Given the description of an element on the screen output the (x, y) to click on. 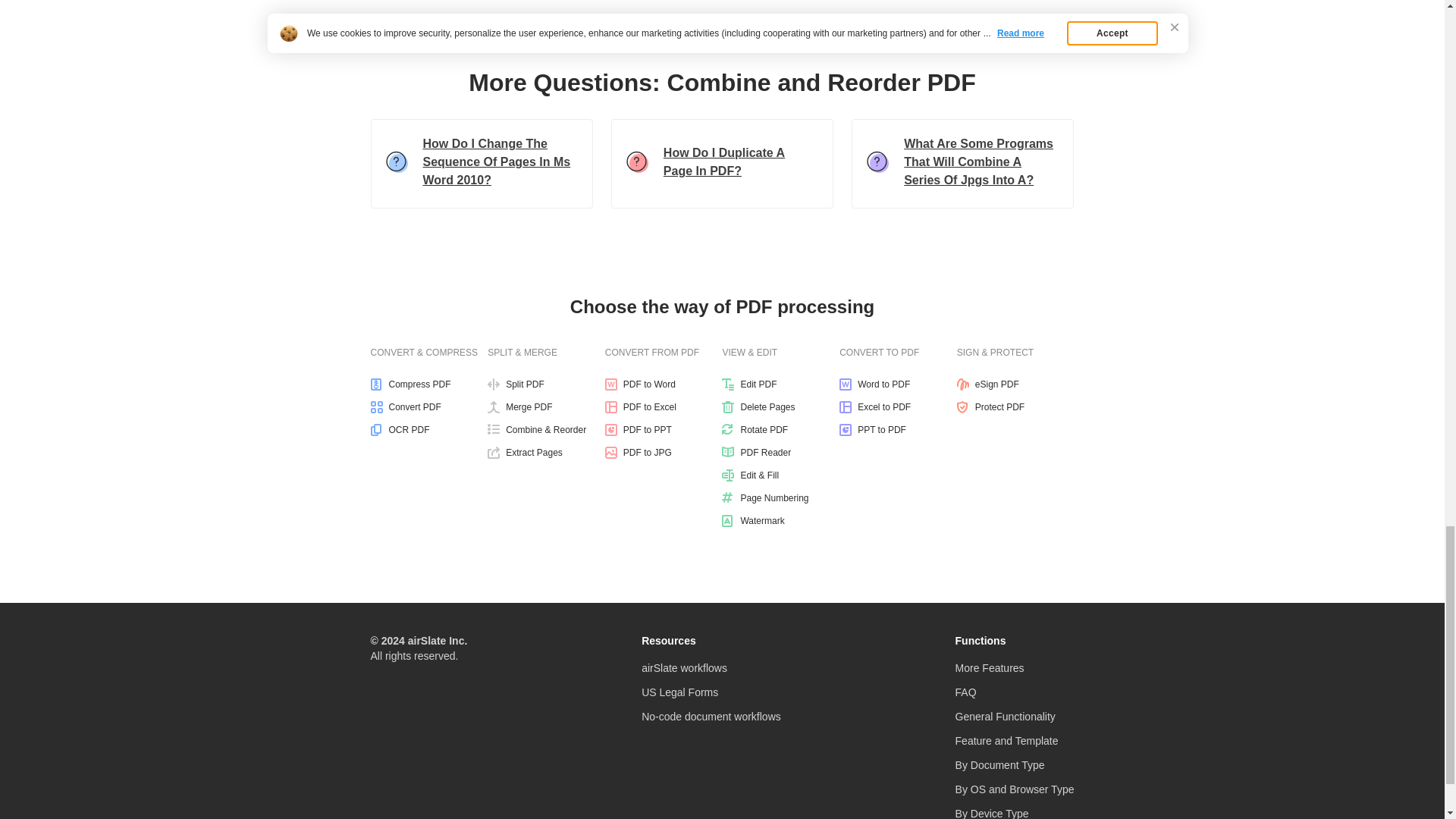
Merge PDF (546, 407)
How Do I Duplicate A Page In PDF? (721, 163)
Excel to PDF (898, 407)
PPT to PDF (898, 429)
Edit PDF (781, 384)
OCR PDF (428, 429)
Compress PDF (428, 384)
Page Numbering (781, 498)
PDF to Excel (663, 407)
PDF to PPT (663, 429)
eSign PDF (1015, 384)
Rotate PDF (781, 429)
Split PDF (546, 384)
Watermark (781, 521)
